Given the description of an element on the screen output the (x, y) to click on. 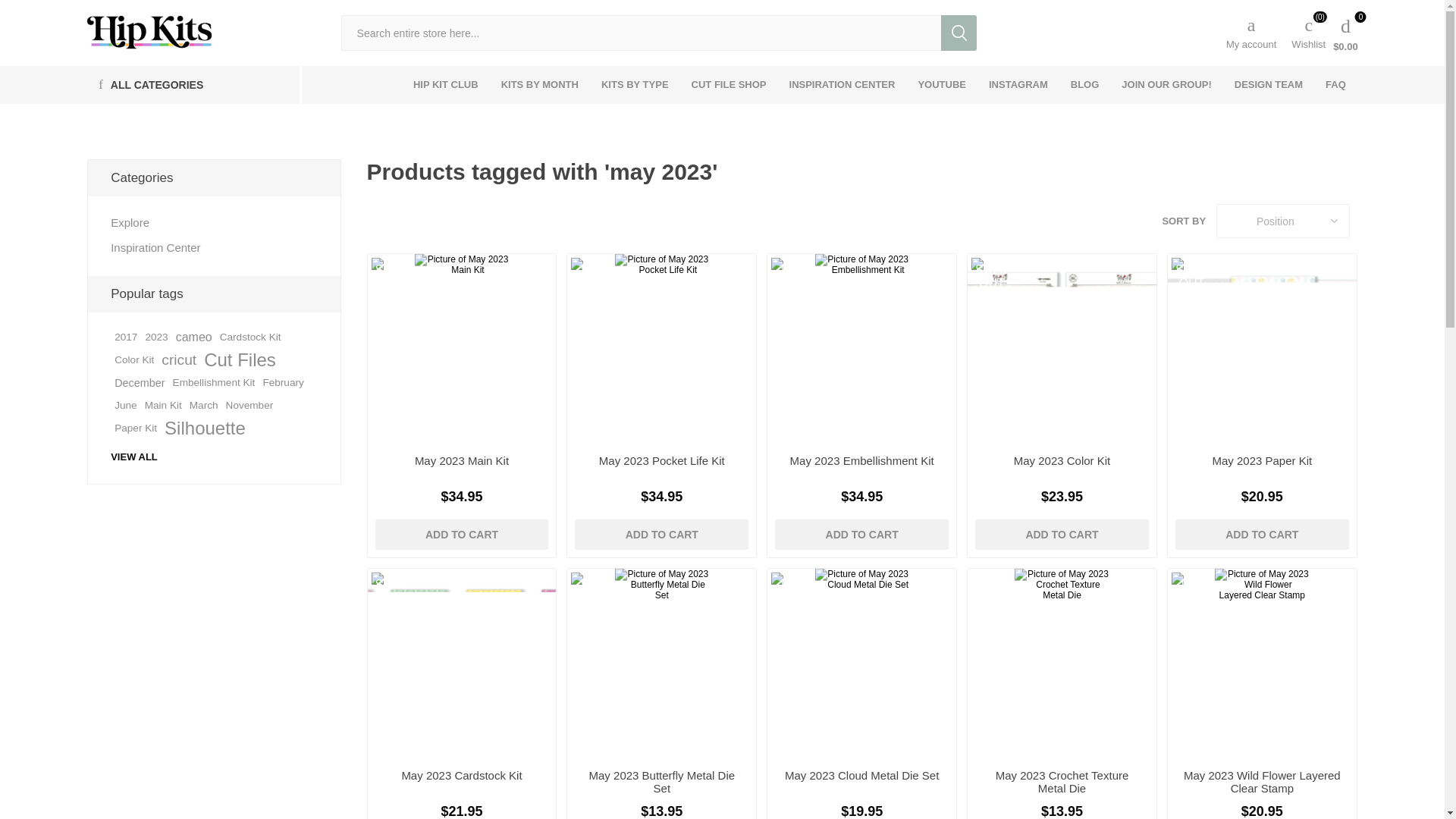
My account (1250, 32)
Hip Kit Club (148, 32)
SEARCH (958, 32)
